Given the description of an element on the screen output the (x, y) to click on. 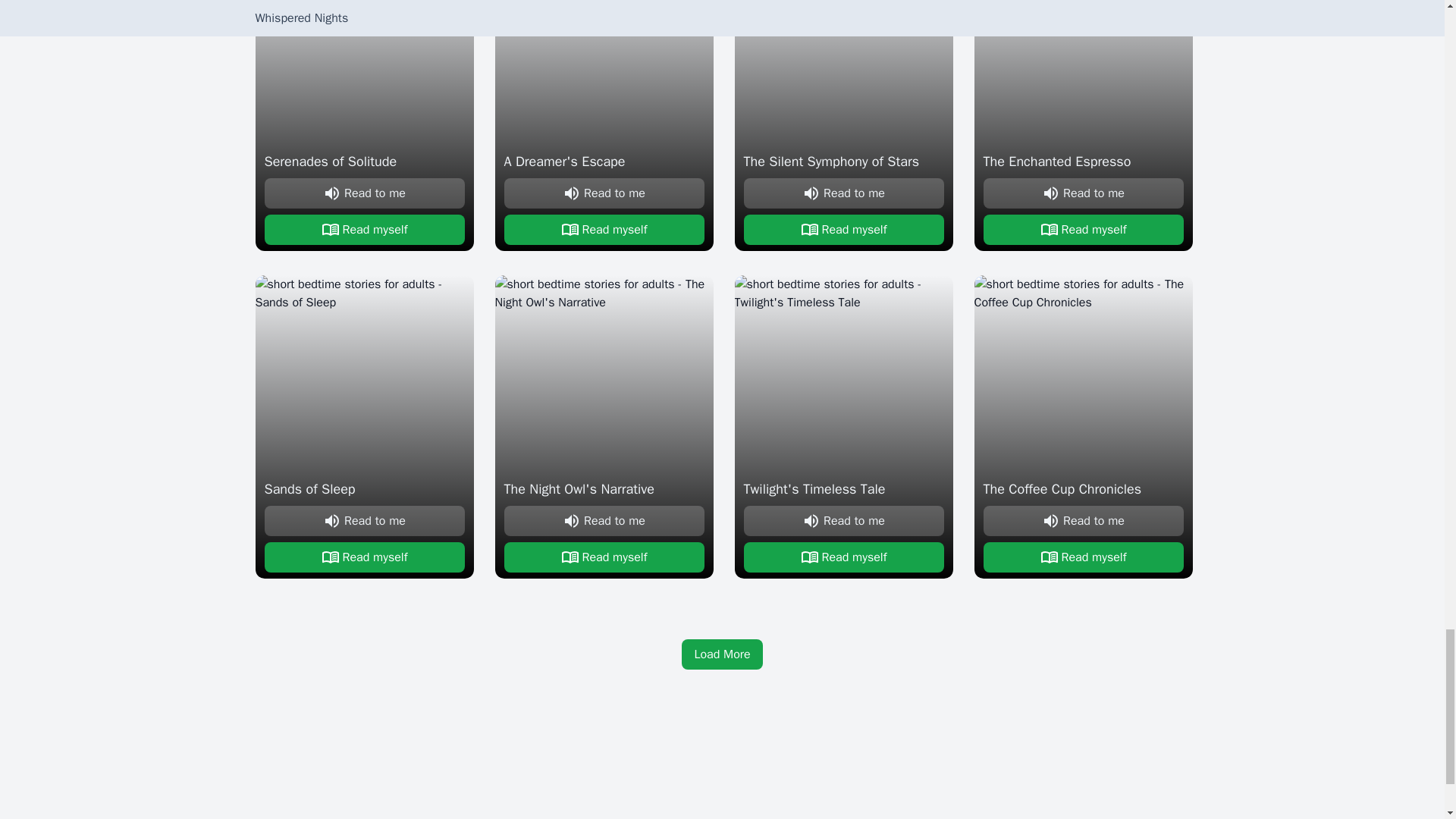
Read myself (1082, 557)
Read myself (603, 557)
Read to me (842, 521)
Read to me (363, 521)
Read to me (363, 193)
Load More (721, 654)
Read myself (363, 229)
Read to me (1082, 193)
Read myself (1082, 229)
Read to me (1082, 521)
Read to me (842, 193)
Read to me (603, 193)
Read myself (842, 229)
Read myself (603, 229)
Read myself (363, 557)
